Given the description of an element on the screen output the (x, y) to click on. 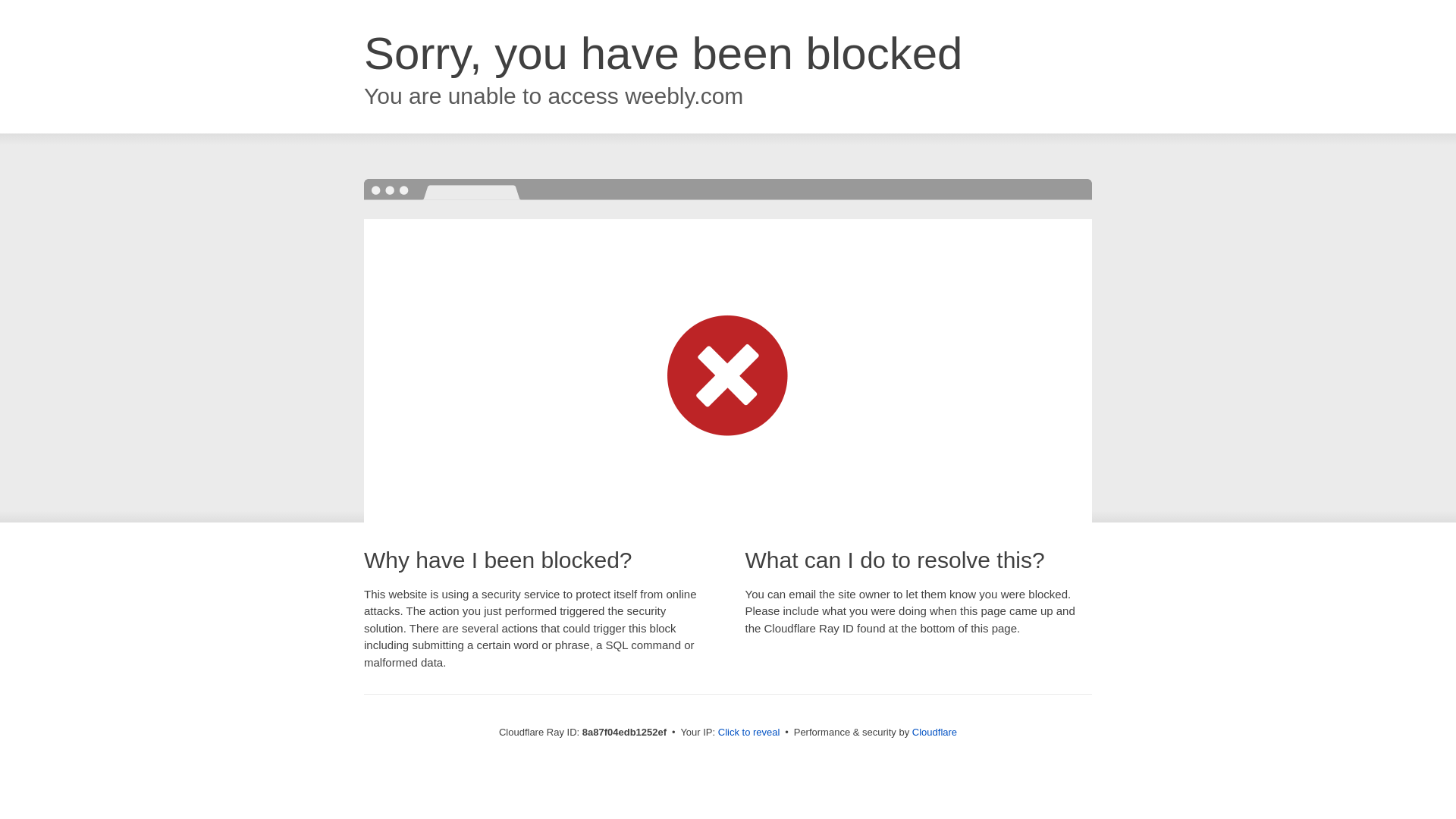
Cloudflare (934, 731)
Click to reveal (748, 732)
